Given the description of an element on the screen output the (x, y) to click on. 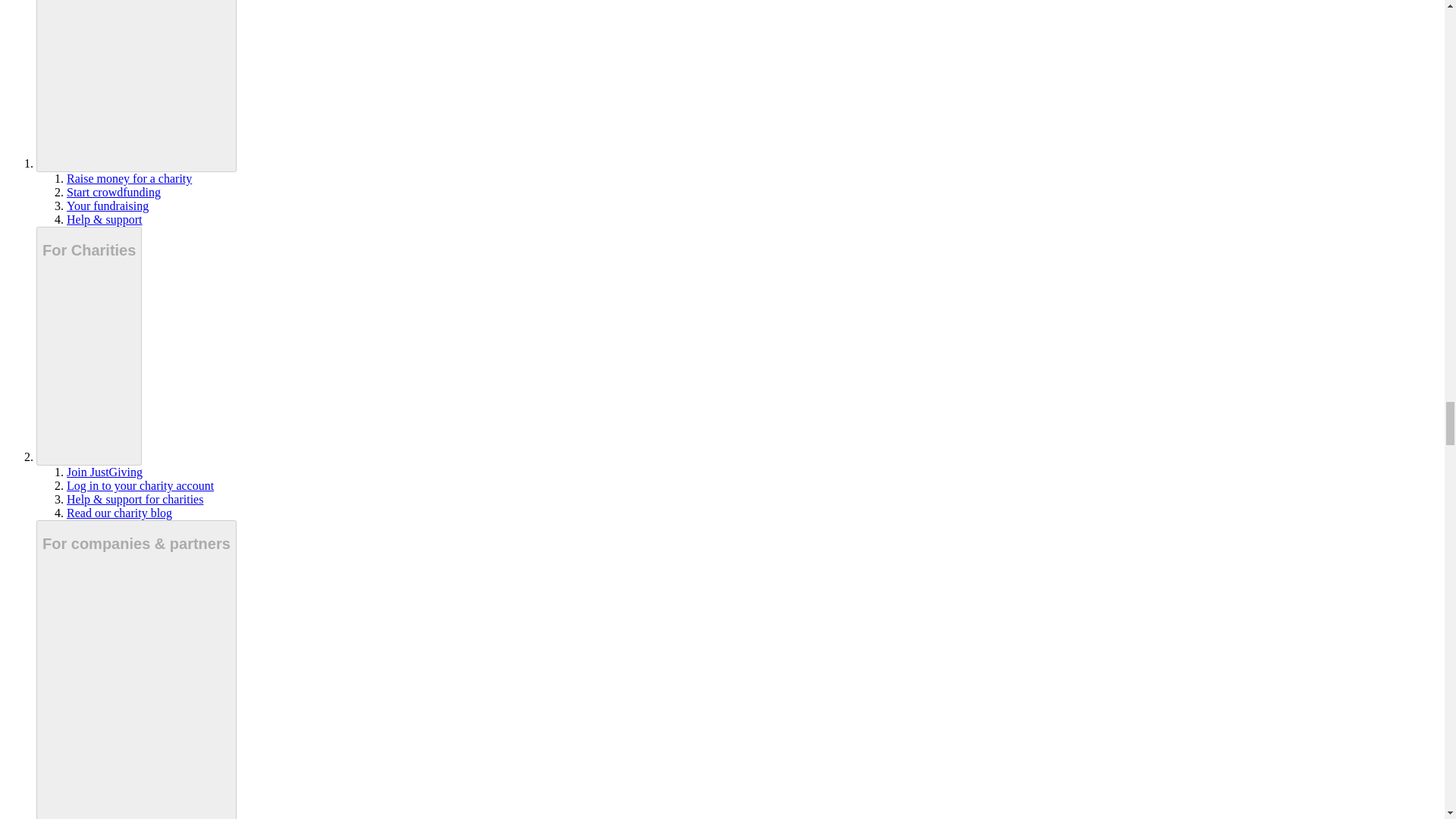
Raise money for a charity (129, 178)
Log in to your charity account (140, 485)
Read our charity blog (118, 512)
Join JustGiving (104, 472)
Start crowdfunding (113, 192)
Your fundraising (107, 205)
